Given the description of an element on the screen output the (x, y) to click on. 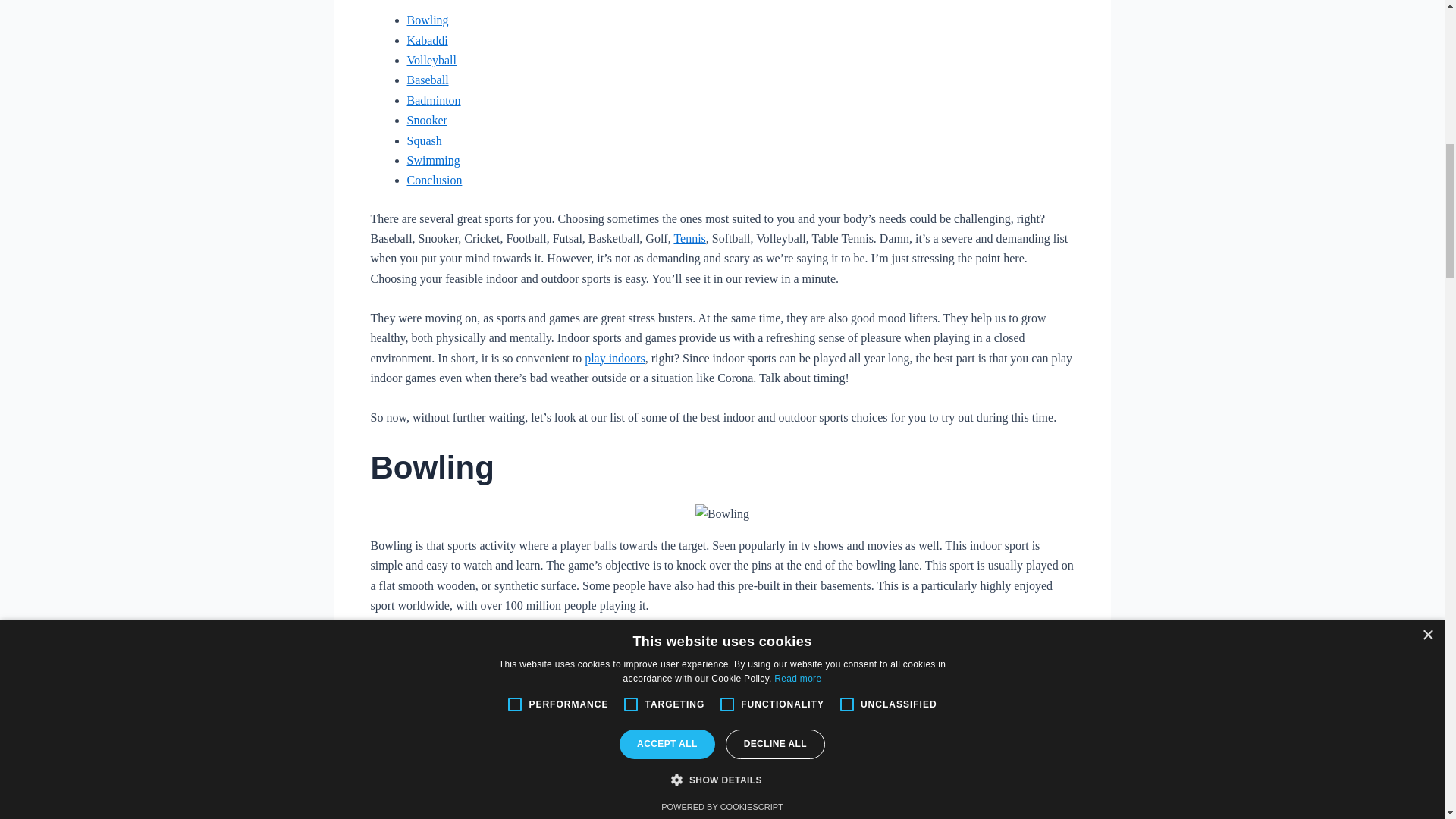
Badminton (433, 100)
Tennis (688, 237)
Volleyball (430, 60)
Swimming (433, 160)
Snooker (426, 119)
Bowling (427, 19)
play indoors (615, 358)
Baseball (427, 79)
Conclusion (433, 179)
Kabaddi (426, 40)
Squash (423, 139)
